Given the description of an element on the screen output the (x, y) to click on. 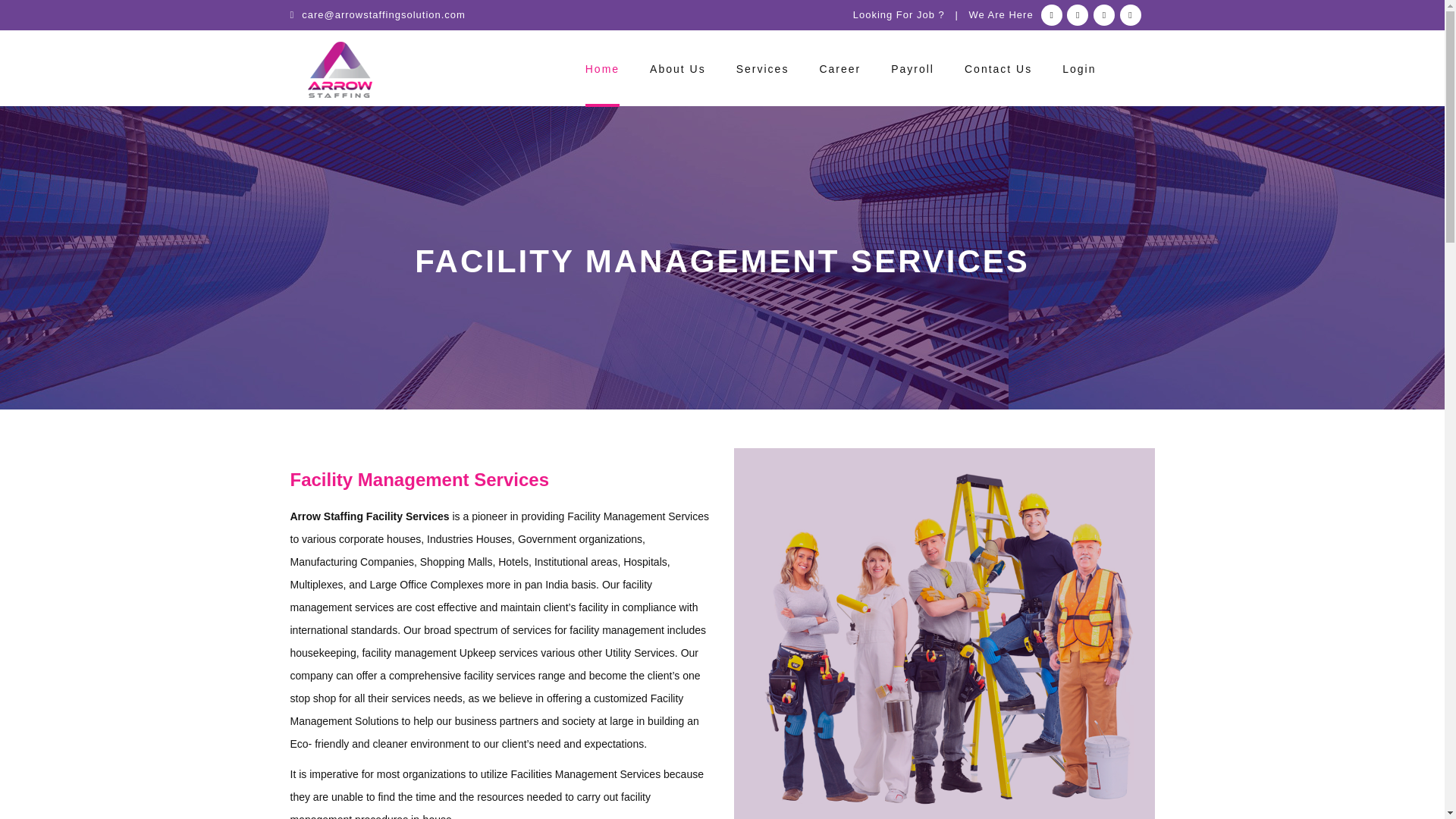
About Us (677, 72)
Contact Us (997, 72)
Services (762, 72)
